Given the description of an element on the screen output the (x, y) to click on. 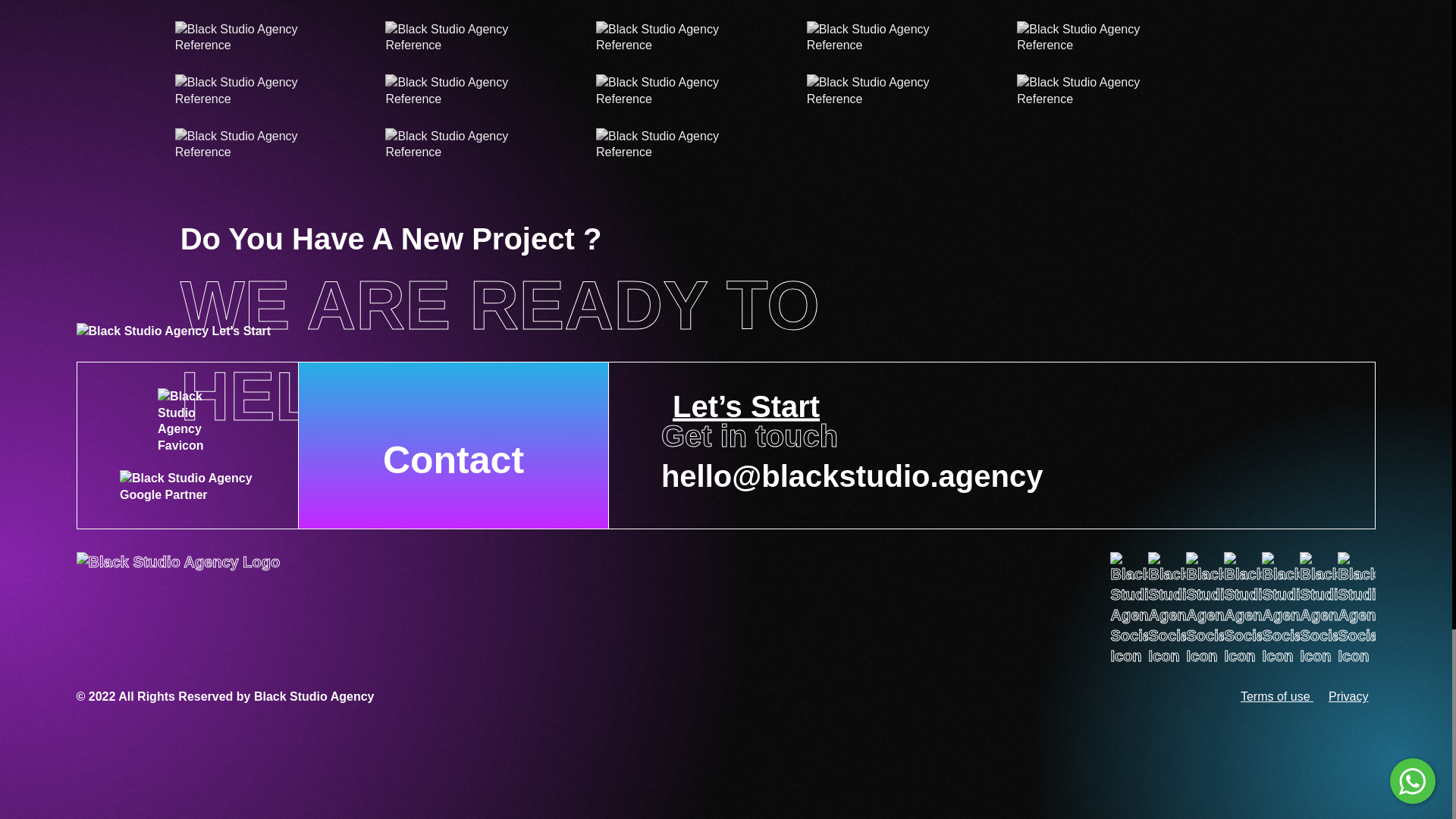
Privacy (1347, 696)
Terms of use (1276, 696)
Contact (453, 445)
